Given the description of an element on the screen output the (x, y) to click on. 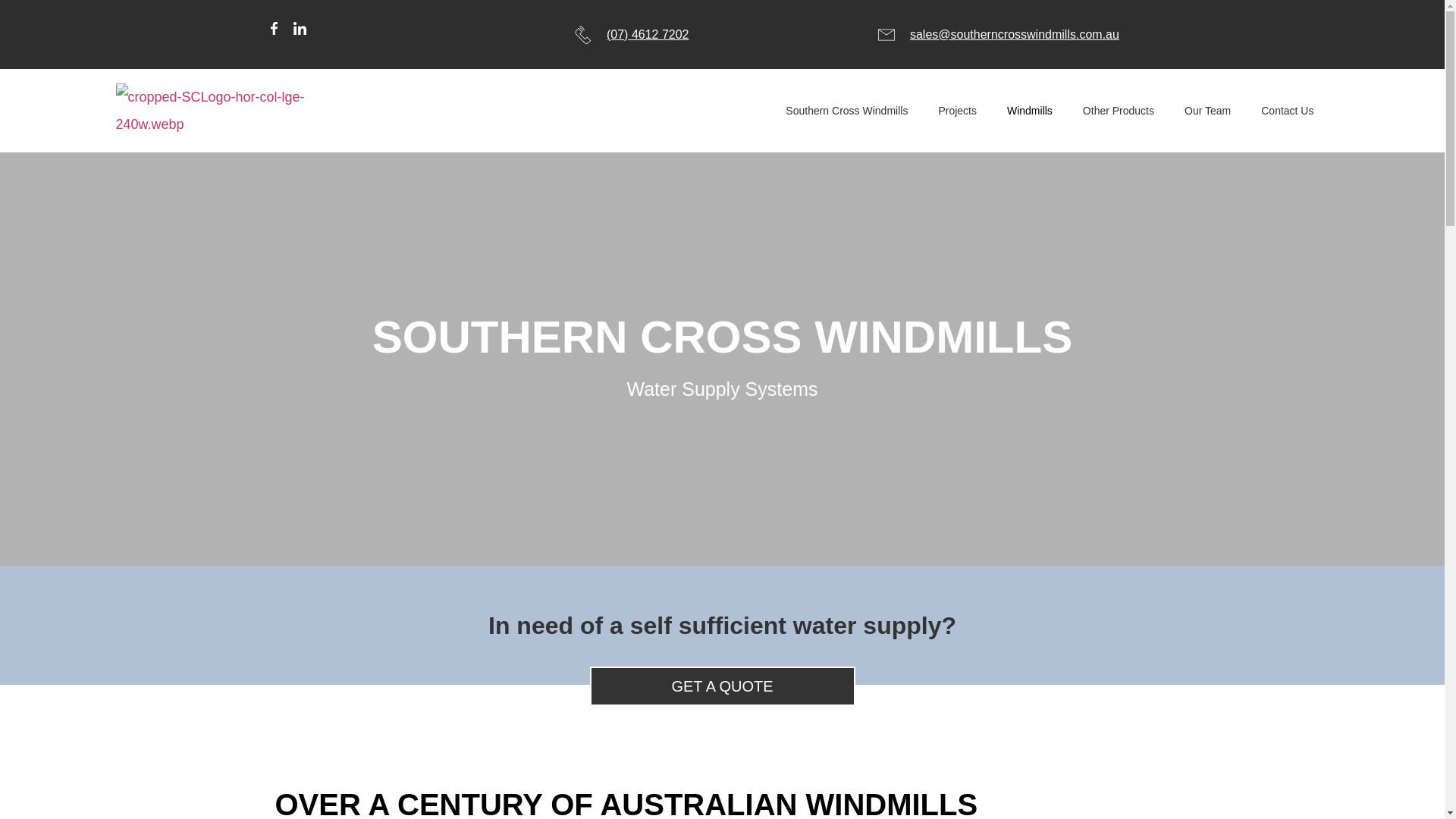
GET A QUOTE (722, 685)
Southern Cross Windmills (846, 110)
Windmills (1029, 110)
cropped-SCLogo-hor-col-lge-240w.webp (206, 109)
Our Team (1207, 110)
Contact Us (1286, 110)
Other Products (1118, 110)
Projects (957, 110)
